Given the description of an element on the screen output the (x, y) to click on. 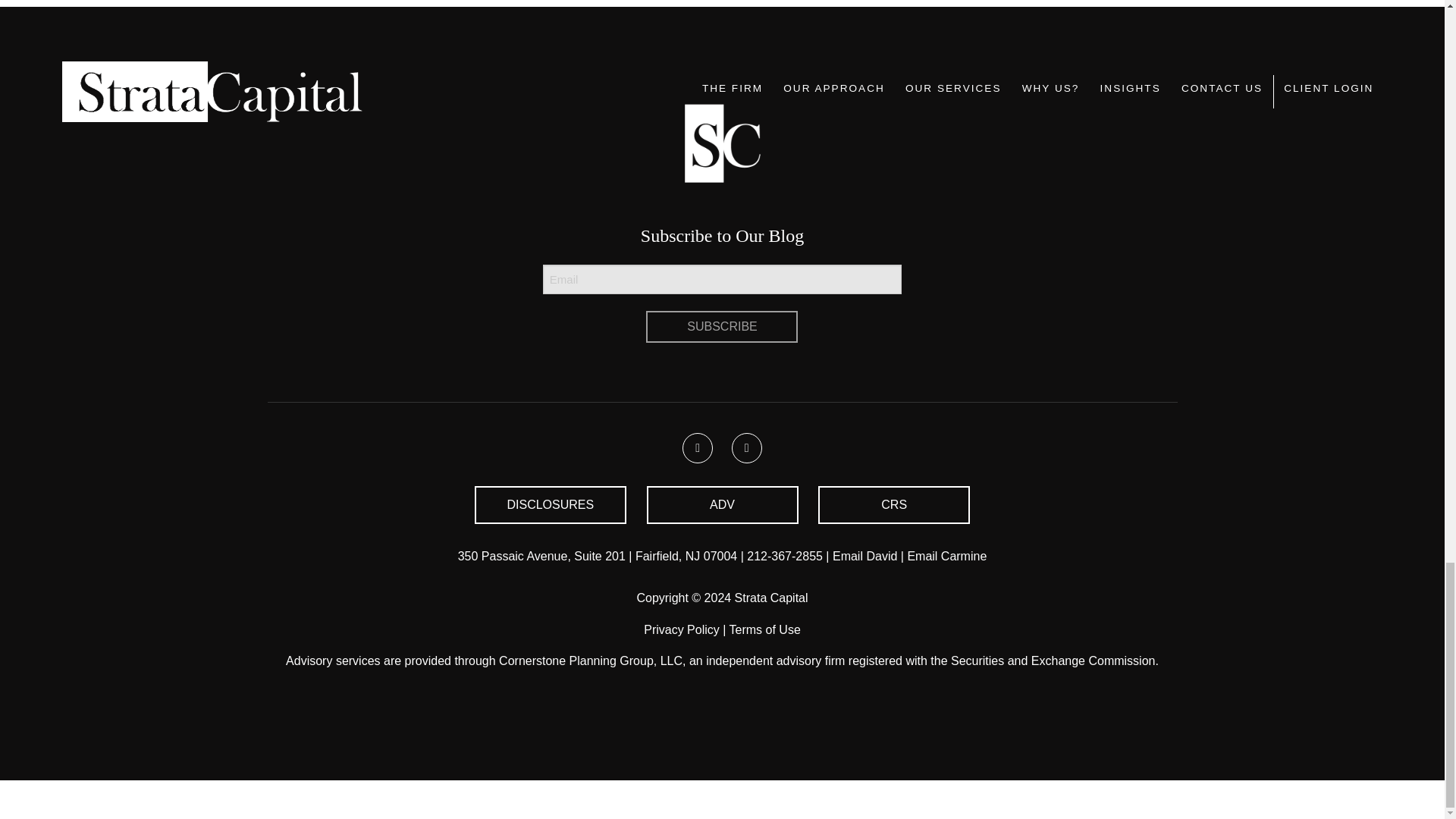
Subscribe (721, 327)
Email David (864, 555)
DISCLOSURES (550, 505)
CRS (893, 505)
Subscribe (721, 327)
ADV (721, 505)
